Given the description of an element on the screen output the (x, y) to click on. 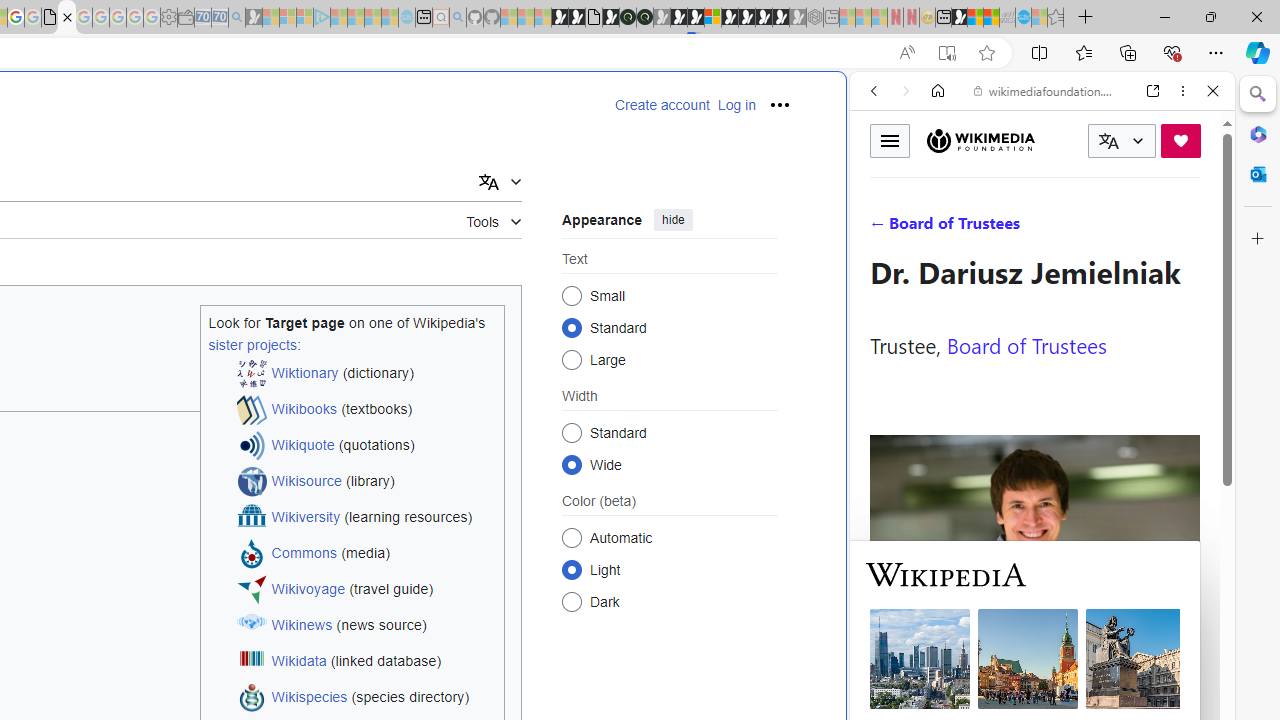
Board of Trustees (1026, 344)
Tools (493, 218)
Wikibooks (textbooks) (366, 410)
Log in (736, 105)
VIDEOS (1006, 228)
Log in (736, 105)
Close Customize pane (1258, 239)
Wallet - Sleeping (185, 17)
Create account (662, 105)
